Given the description of an element on the screen output the (x, y) to click on. 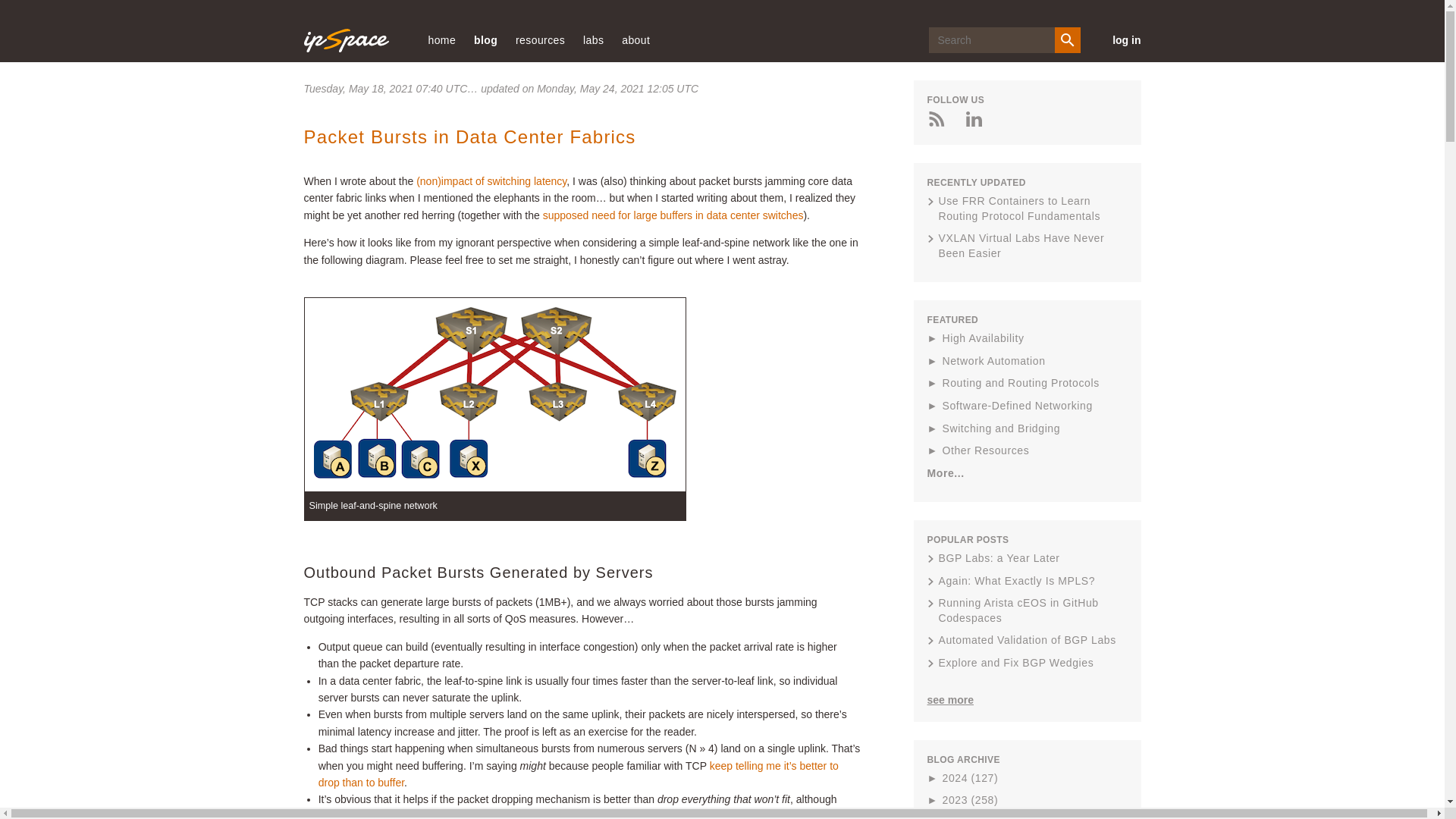
resources (539, 39)
labs (593, 39)
home (441, 39)
supposed need for large buffers in data center switches (673, 215)
about (635, 39)
log in (1118, 39)
blog (485, 39)
Packet Bursts in Data Center Fabrics (468, 136)
